Given the description of an element on the screen output the (x, y) to click on. 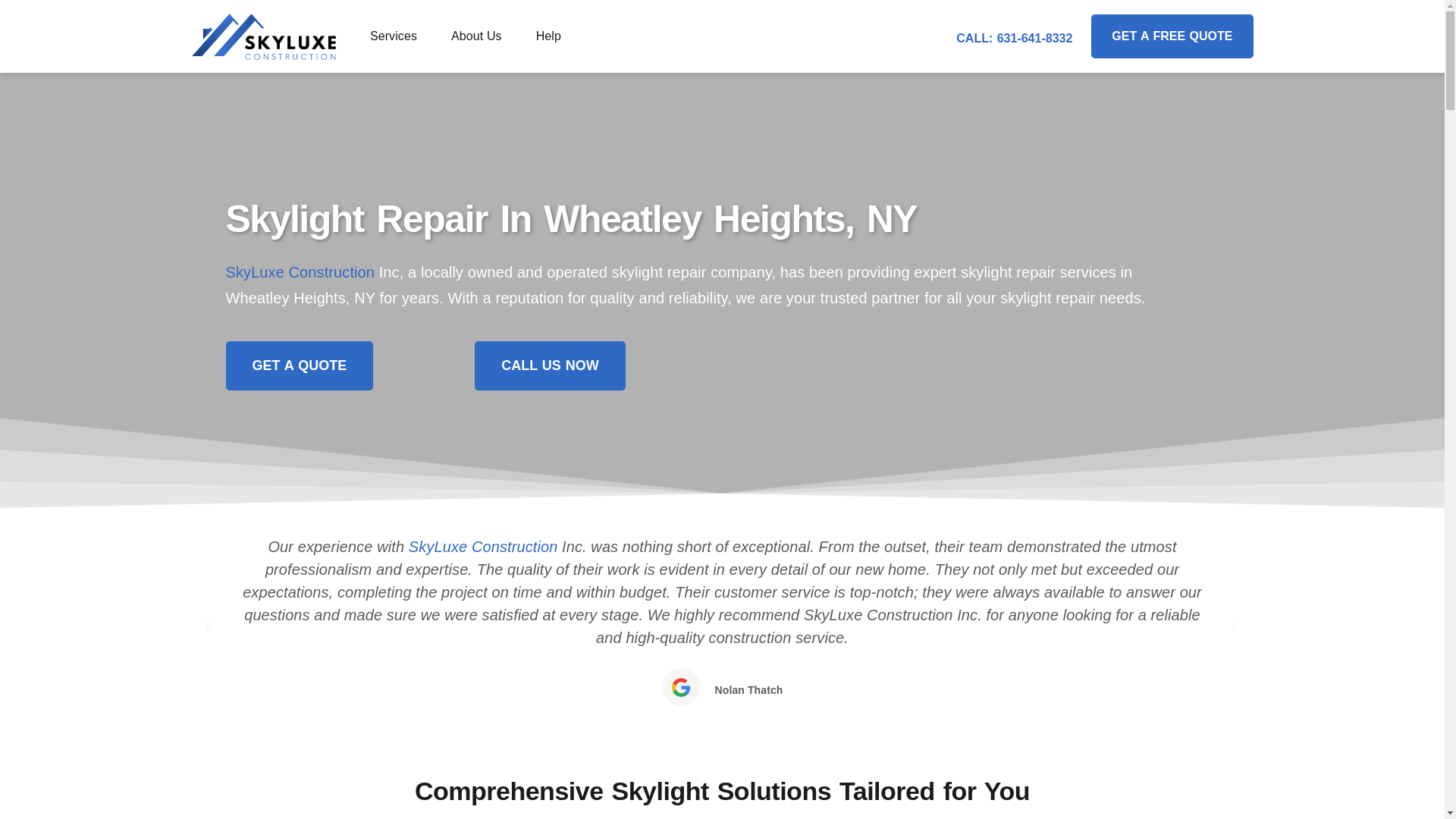
Home (300, 271)
Services (392, 36)
Home (483, 546)
About Us (476, 36)
